Given the description of an element on the screen output the (x, y) to click on. 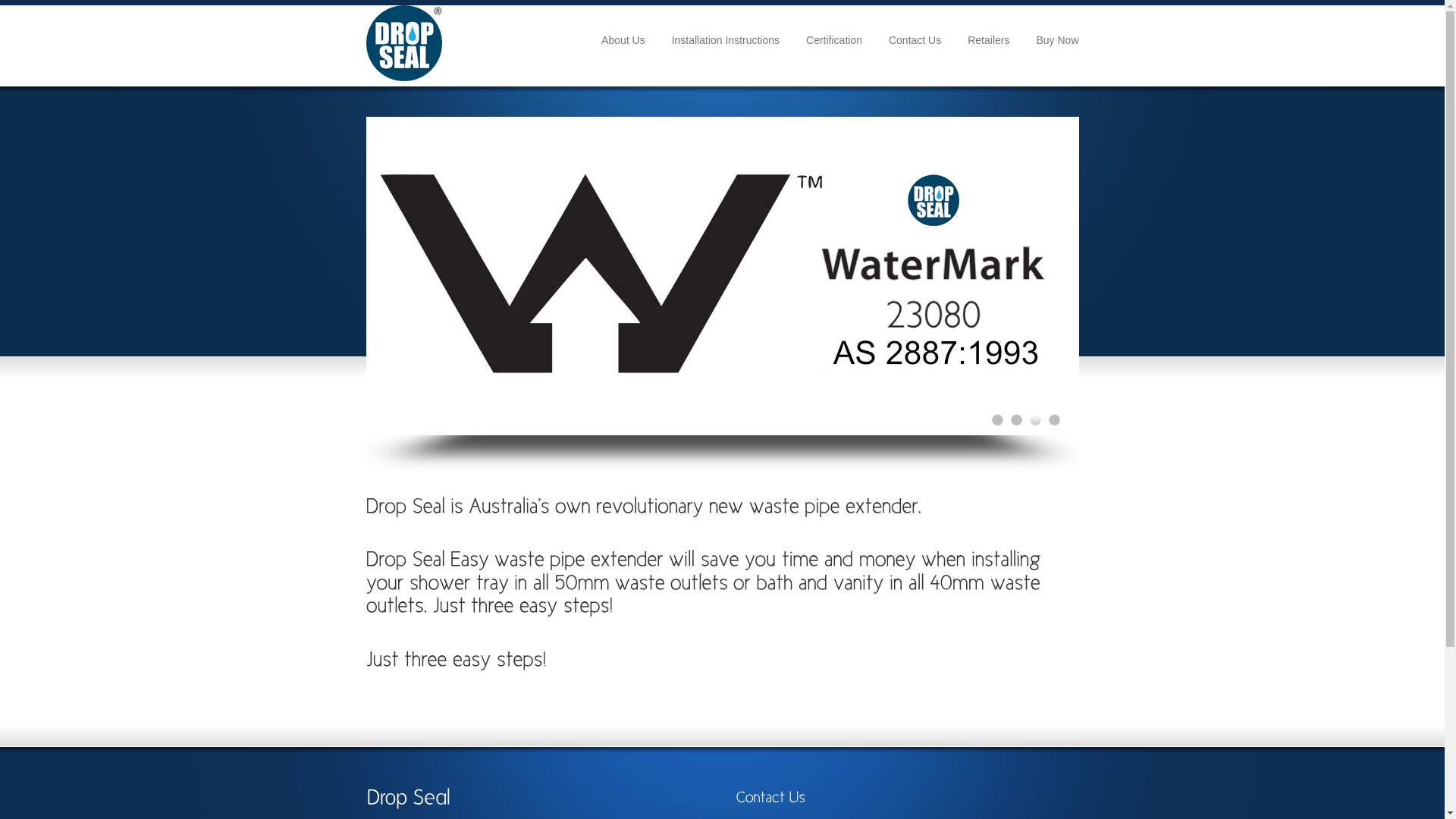
Installation Instructions Element type: text (725, 40)
3 Element type: text (1035, 419)
Retailers Element type: text (988, 40)
2 Element type: text (1015, 419)
1 Element type: text (997, 419)
Certification Element type: text (834, 40)
4 Element type: text (1053, 419)
About Us Element type: text (623, 40)
Buy Now Element type: text (1056, 40)
Contact Us Element type: text (914, 40)
